Given the description of an element on the screen output the (x, y) to click on. 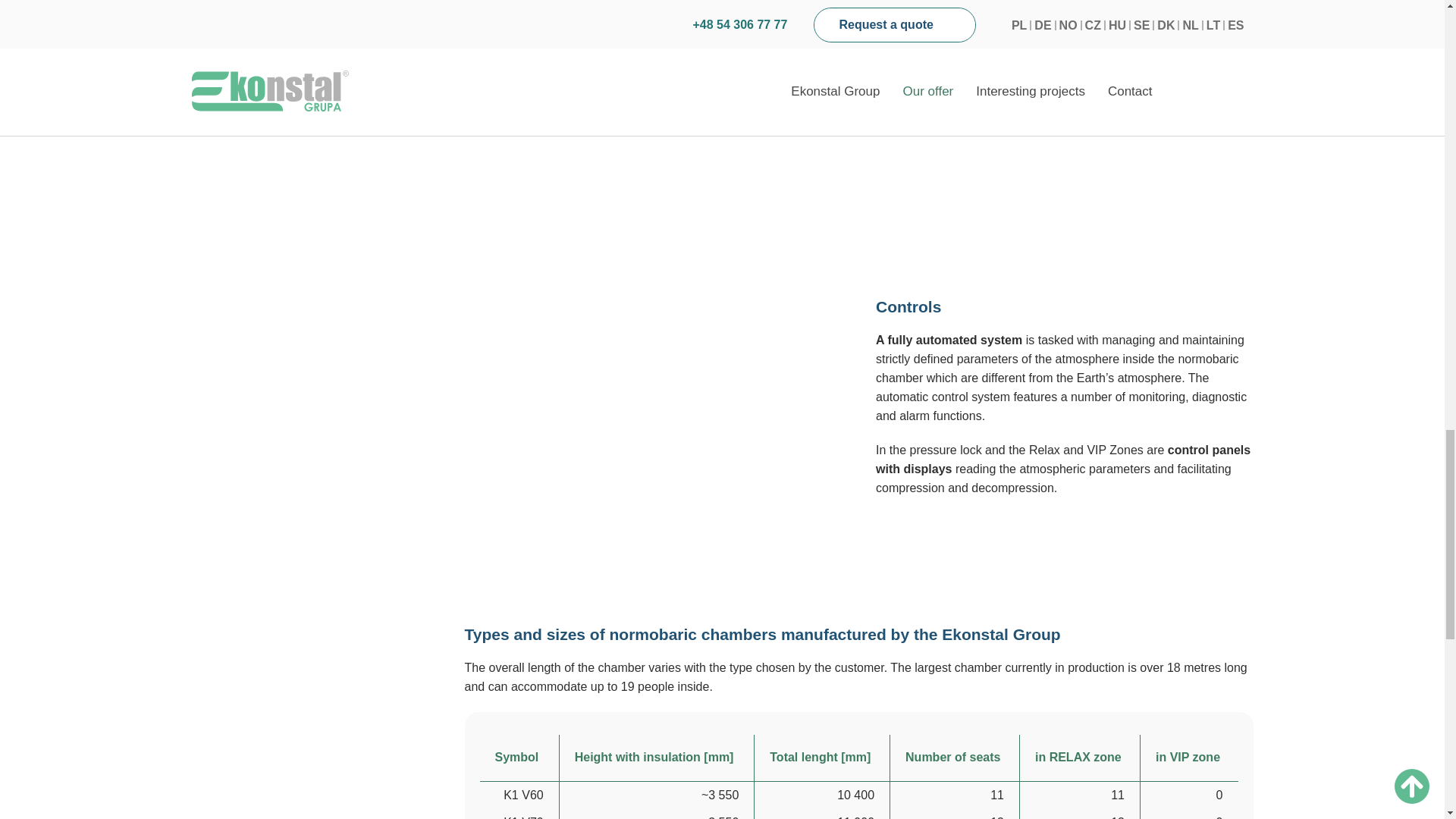
Design and construction of the Oxygen Spa (843, 82)
